Given the description of an element on the screen output the (x, y) to click on. 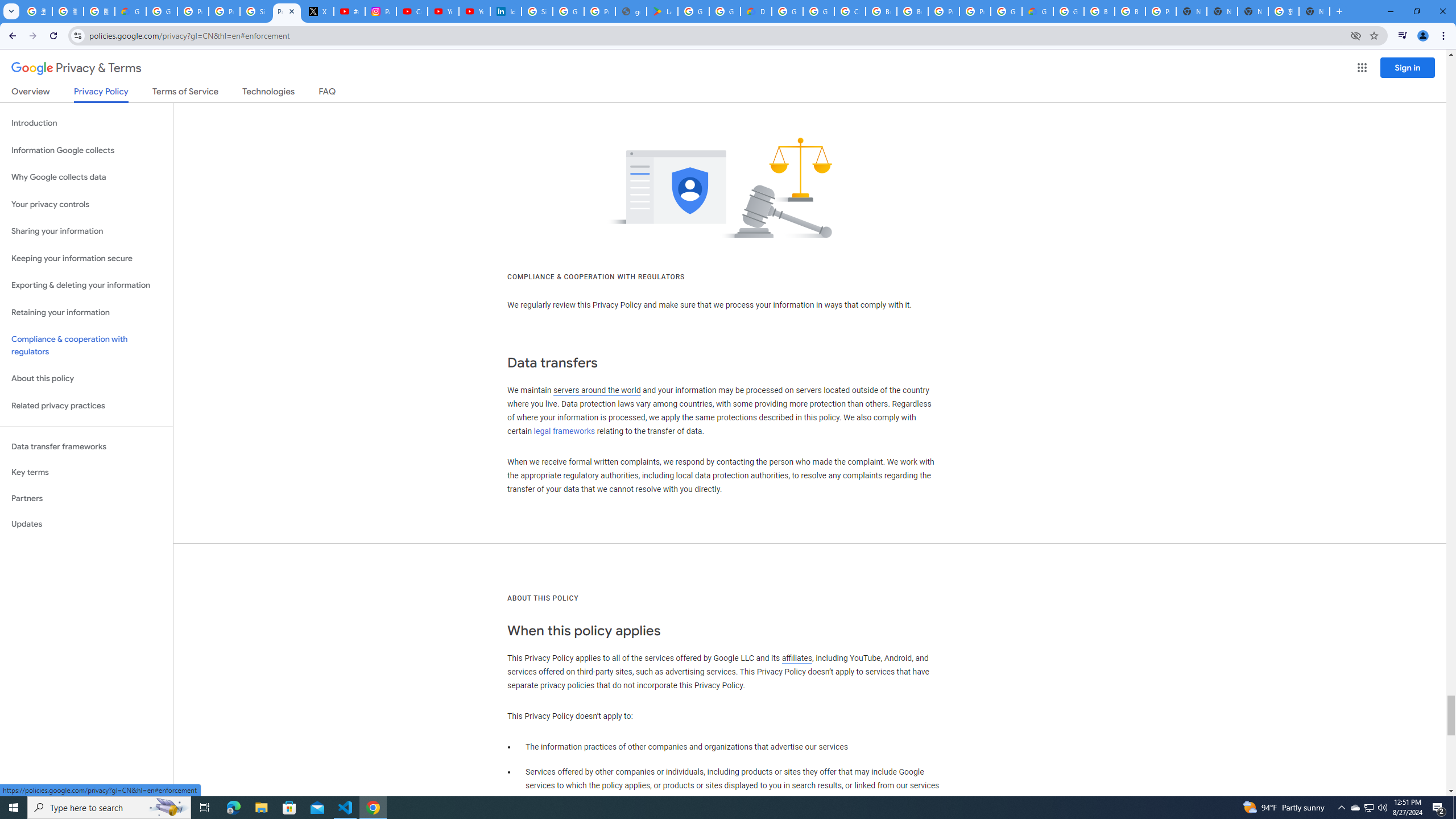
Google Cloud Estimate Summary (1037, 11)
servers around the world (596, 389)
Privacy Help Center - Policies Help (223, 11)
